Given the description of an element on the screen output the (x, y) to click on. 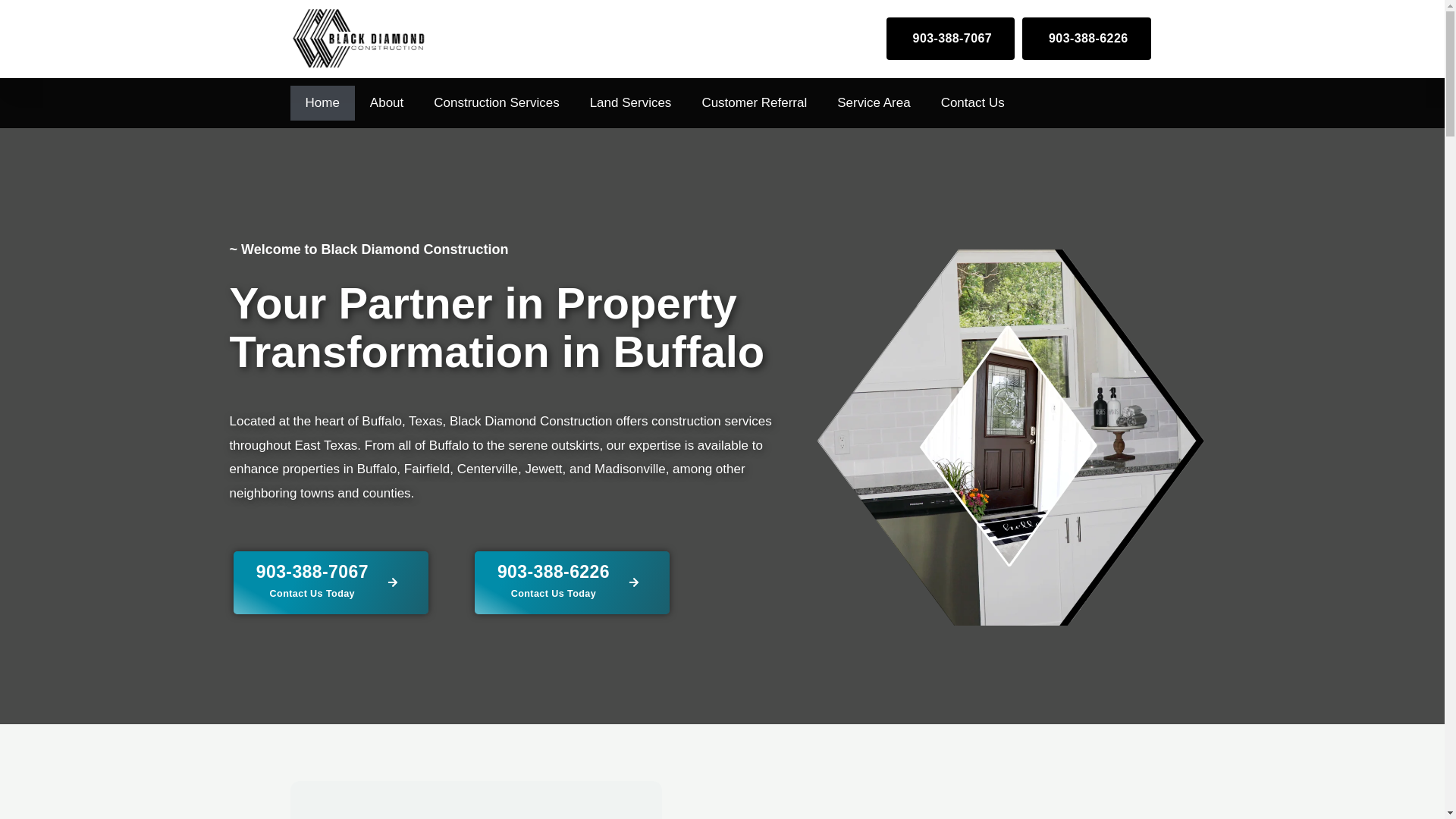
Contact Us (973, 102)
Customer Referral (753, 102)
Service Area (873, 102)
Construction Services (496, 102)
About (387, 102)
Home (321, 102)
903-388-6226 (571, 582)
SONY outdoor front (330, 582)
Land Services (1086, 38)
903-388-7067 (475, 800)
